Given the description of an element on the screen output the (x, y) to click on. 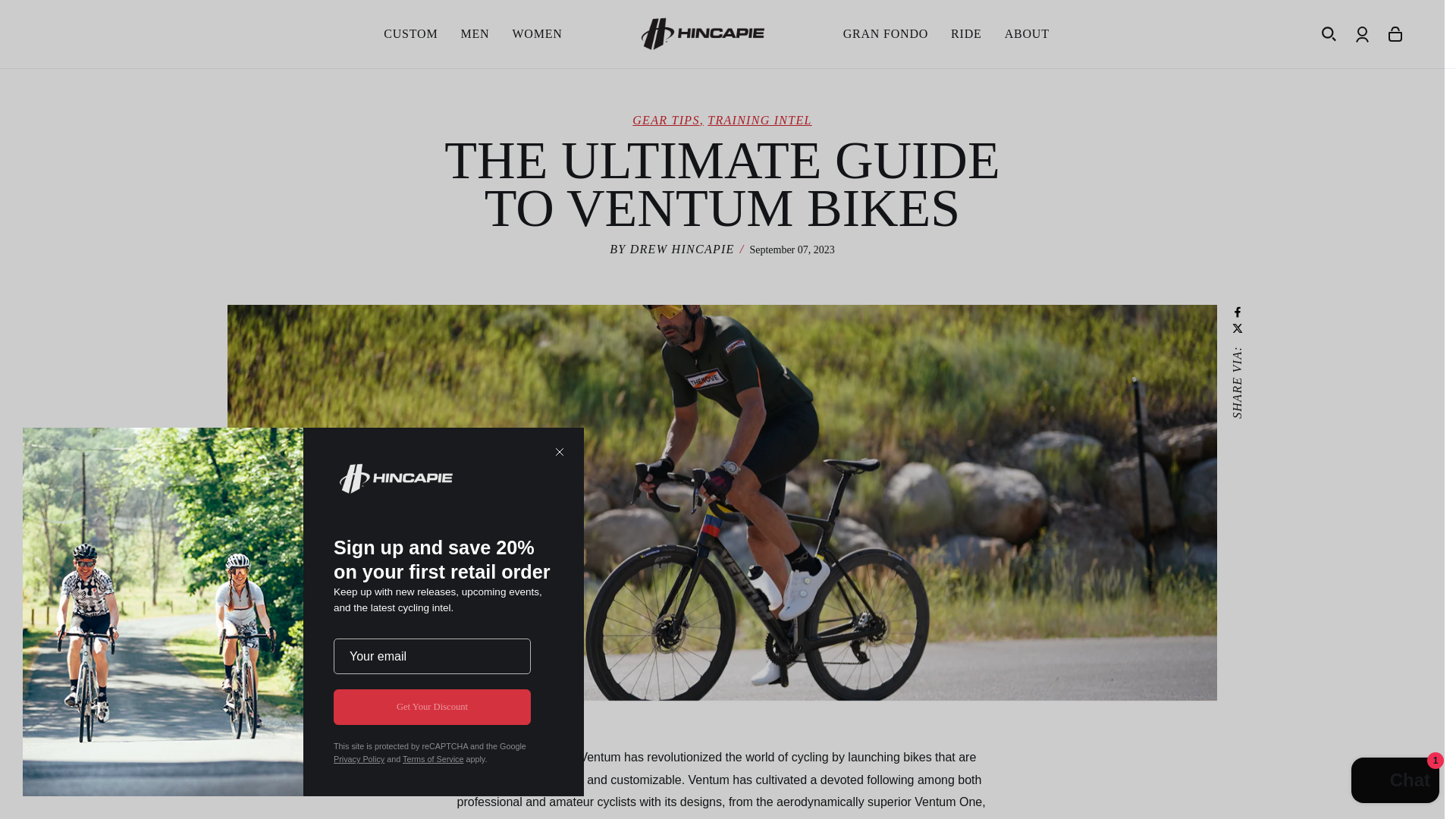
Shopify online store chat (1395, 781)
